Given the description of an element on the screen output the (x, y) to click on. 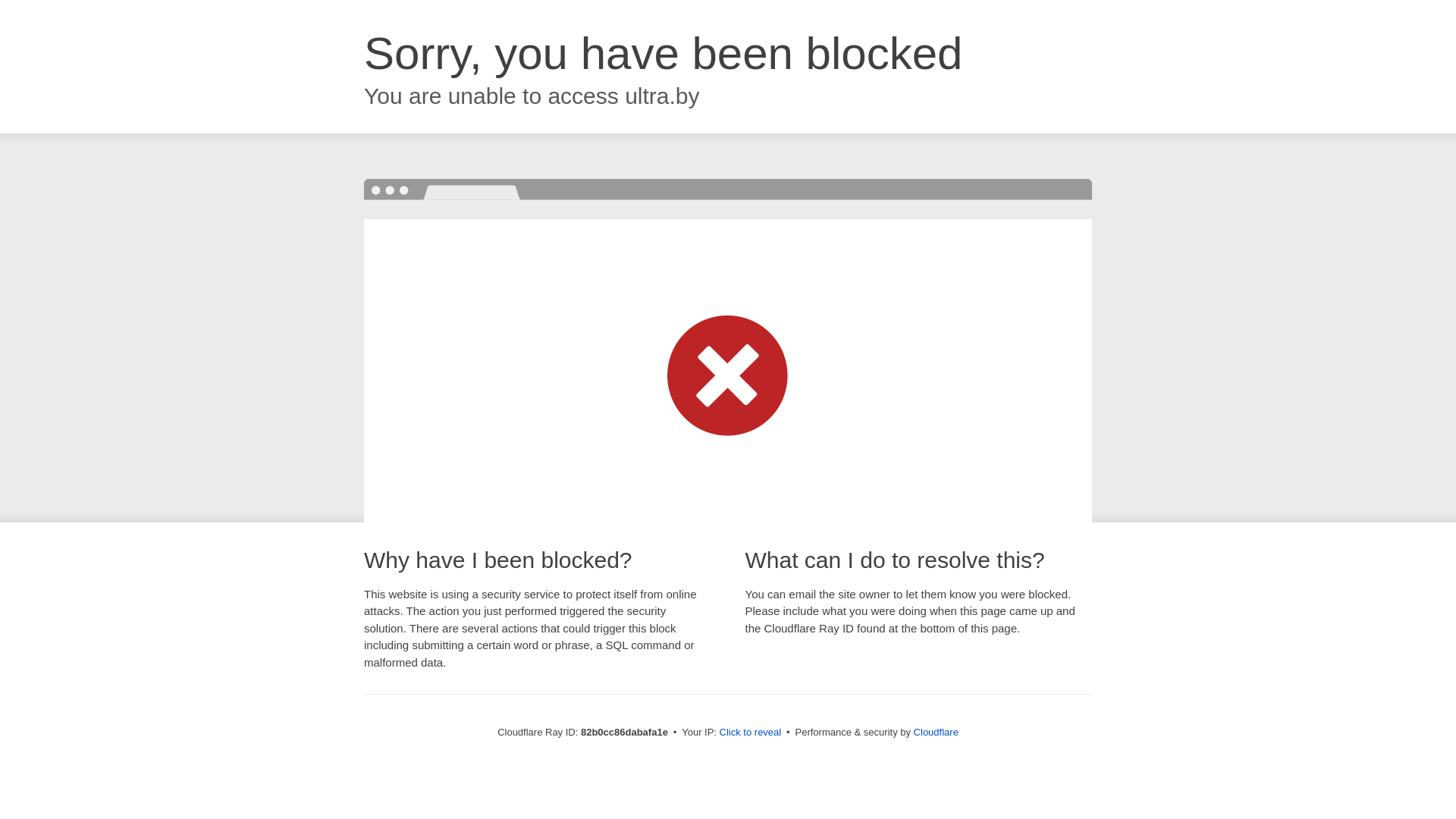
Click to reveal Element type: text (750, 732)
Cloudflare Element type: text (935, 731)
